Given the description of an element on the screen output the (x, y) to click on. 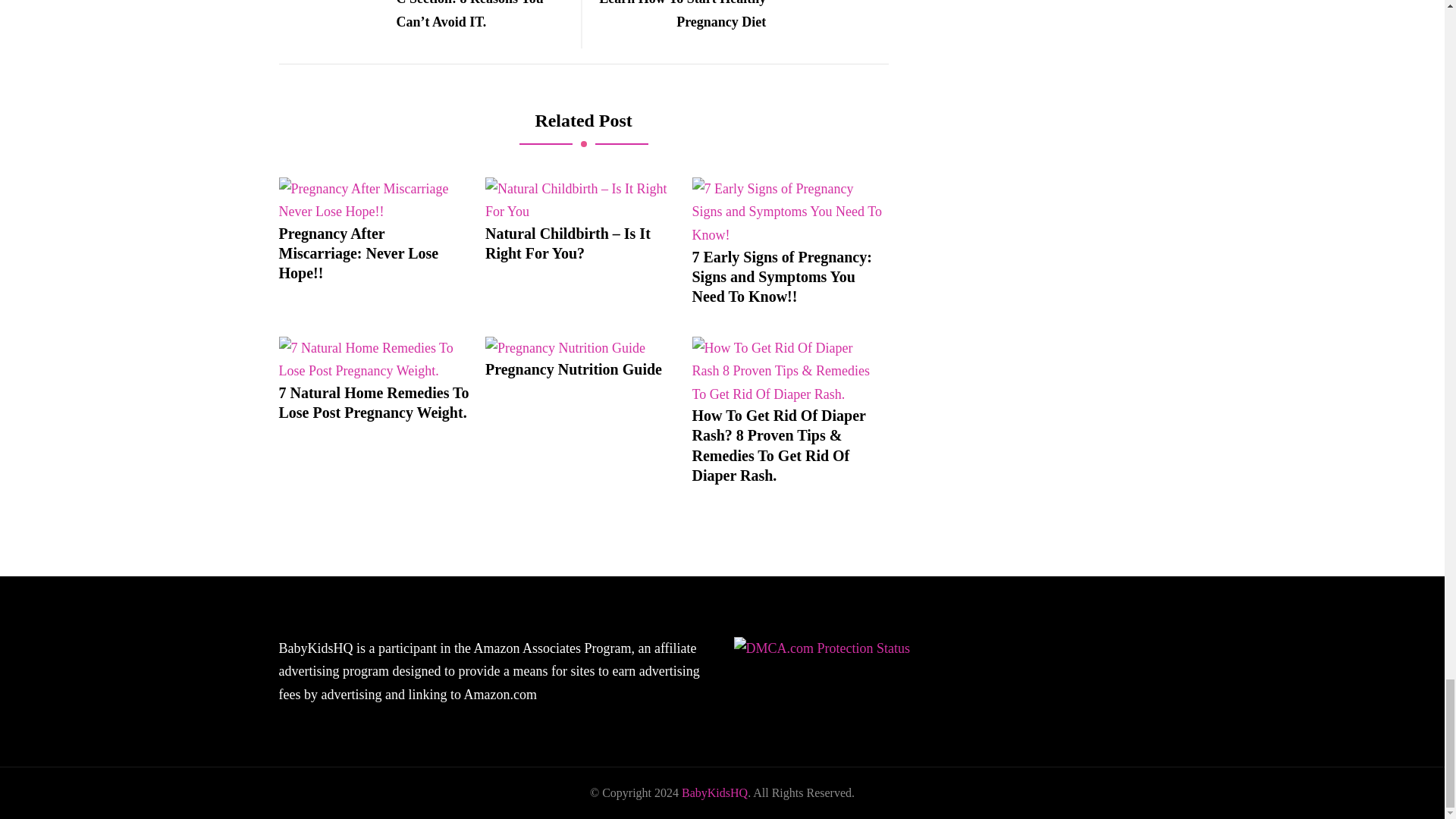
Pregnancy Nutrition Guide 8 (564, 348)
Pregnancy After Miscarriage: Never Lose Hope!! (374, 252)
Learn How To Start Healthy Pregnancy Diet (740, 16)
7 Natural Home Remedies To Lose Post Pregnancy Weight. 7 (374, 359)
DMCA.com Protection Status (822, 648)
Pregnancy After Miscarriage: Never Lose Hope!! 4 (374, 200)
